Given the description of an element on the screen output the (x, y) to click on. 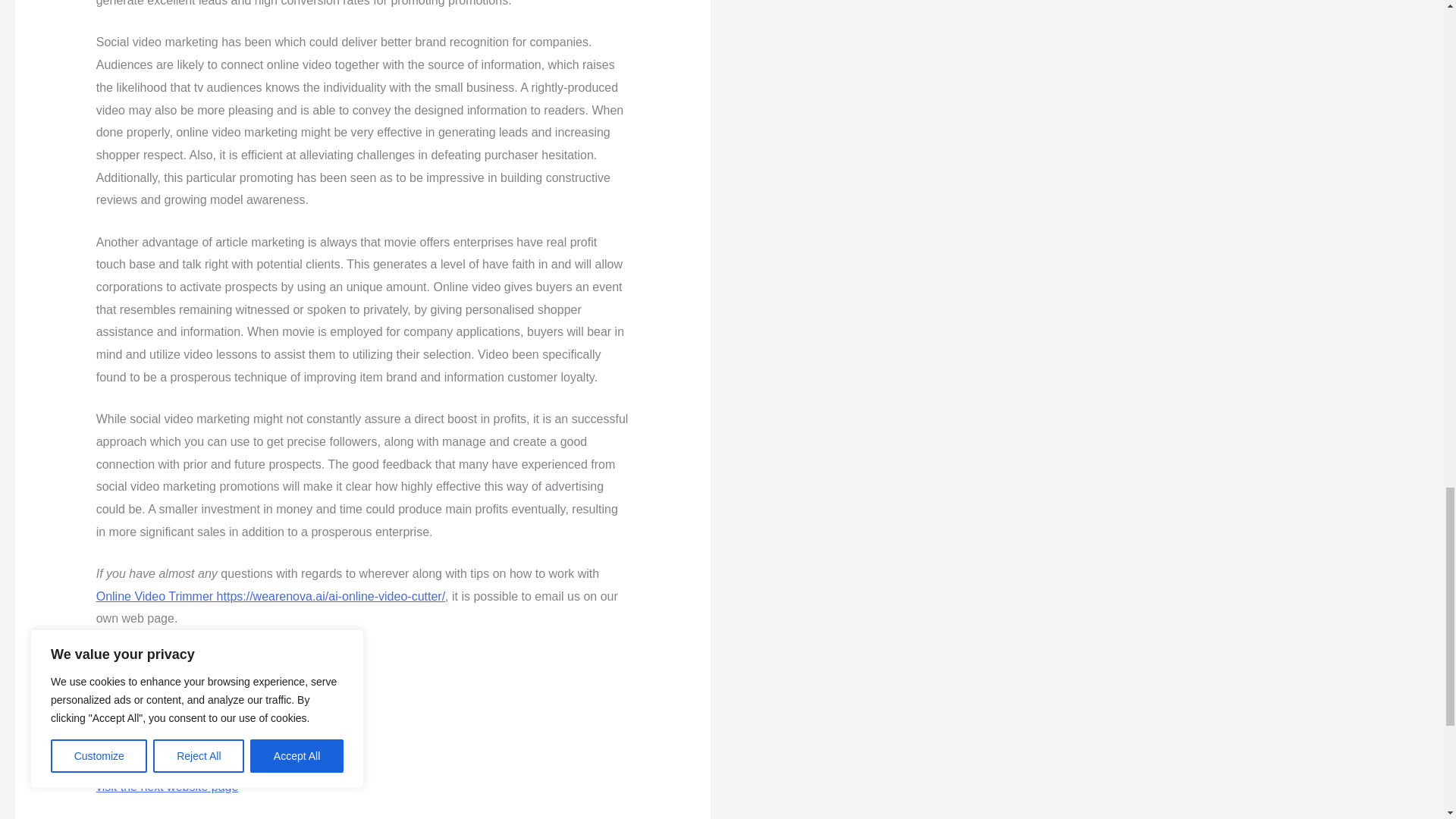
visit the next website page (167, 786)
check out your url (144, 744)
Link web page (135, 702)
